Given the description of an element on the screen output the (x, y) to click on. 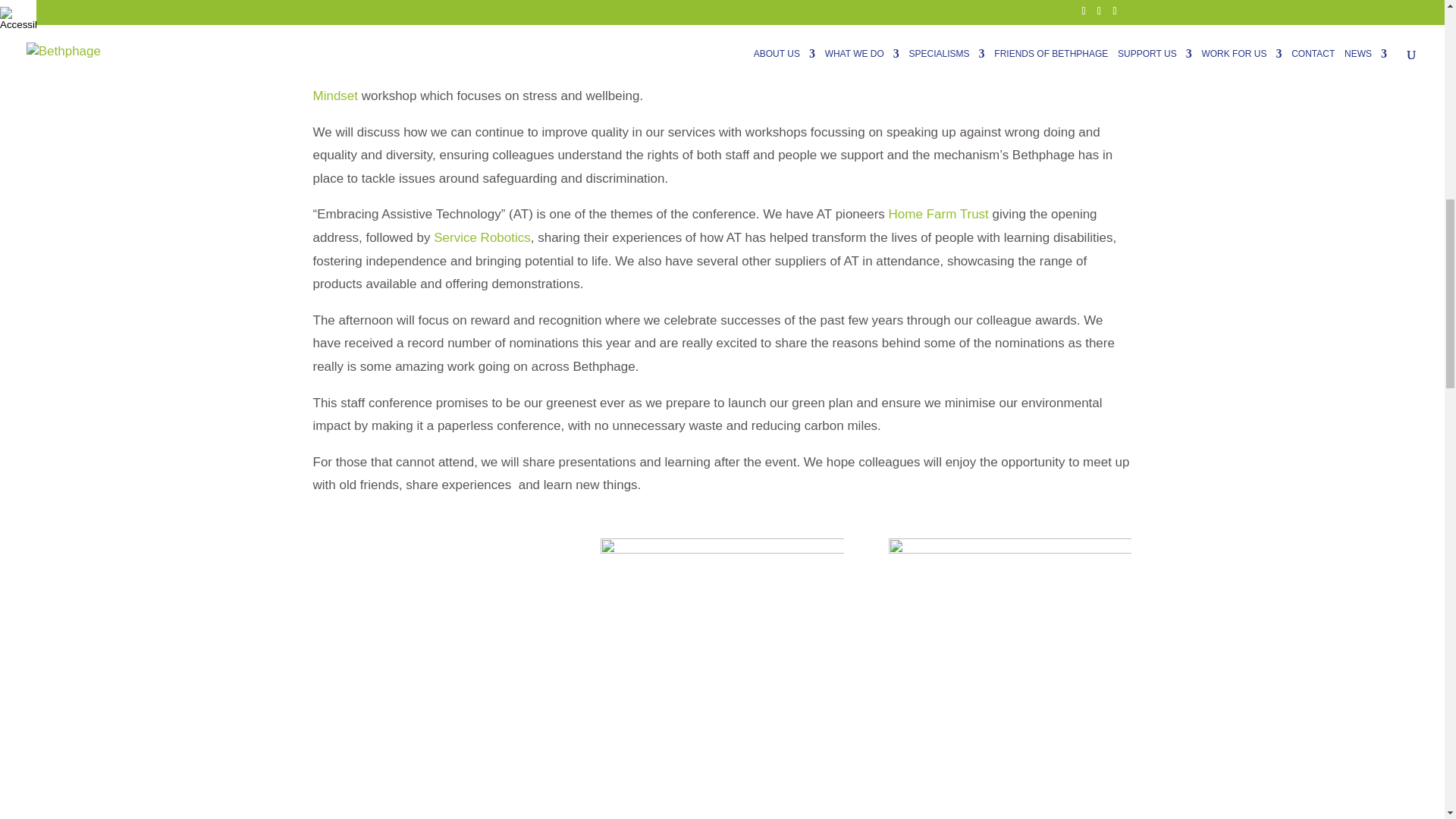
Service Robotics (482, 237)
Home Farm Trust (938, 214)
Staff conference 2017 (721, 621)
Inspired Mindset (719, 84)
